Given the description of an element on the screen output the (x, y) to click on. 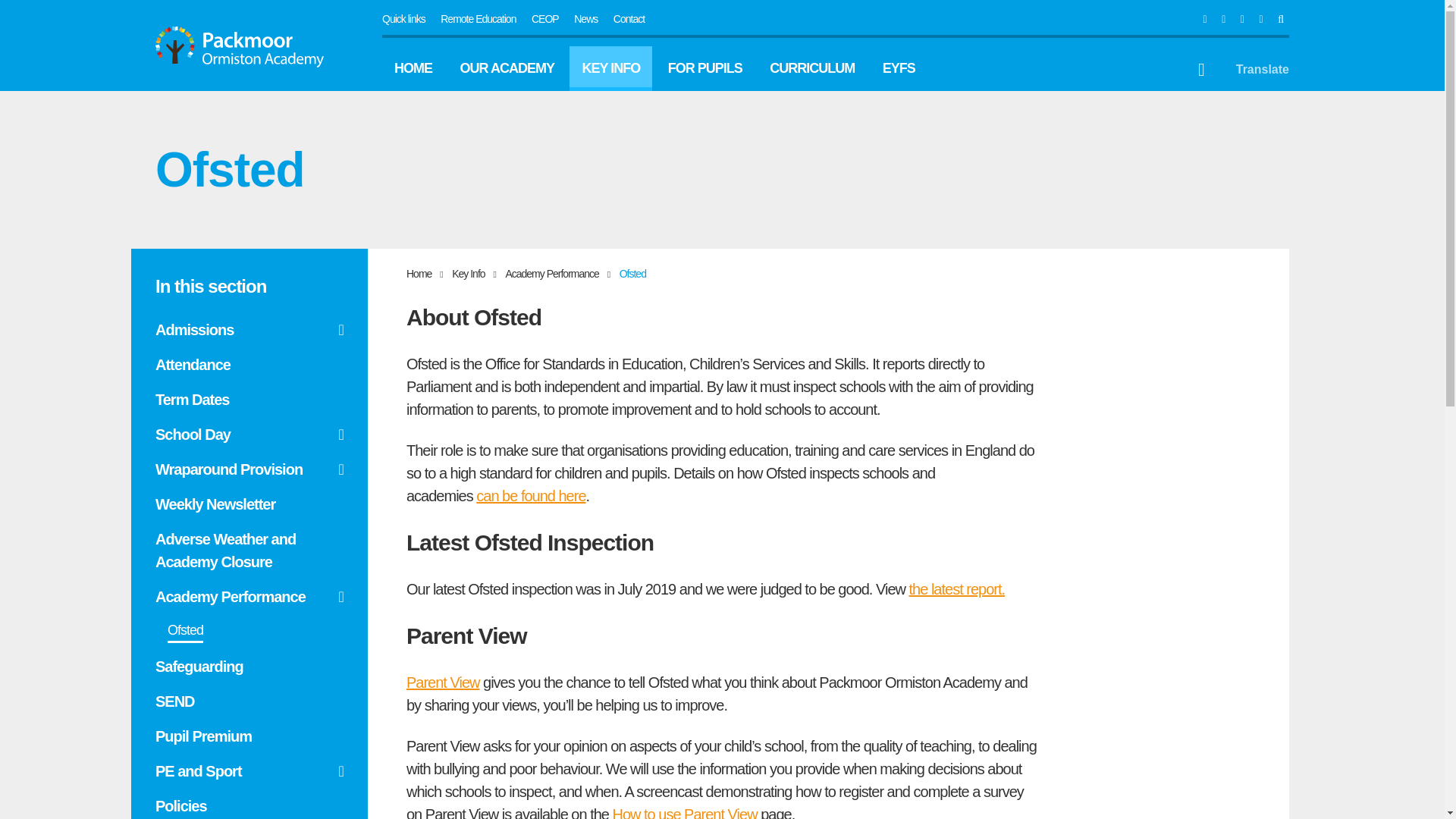
Remote Education (478, 19)
OUR ACADEMY (507, 67)
CEOP (545, 19)
Contact (628, 19)
KEY INFO (610, 67)
News (584, 19)
Quick links (403, 19)
HOME (412, 67)
FOR PUPILS (705, 67)
